Given the description of an element on the screen output the (x, y) to click on. 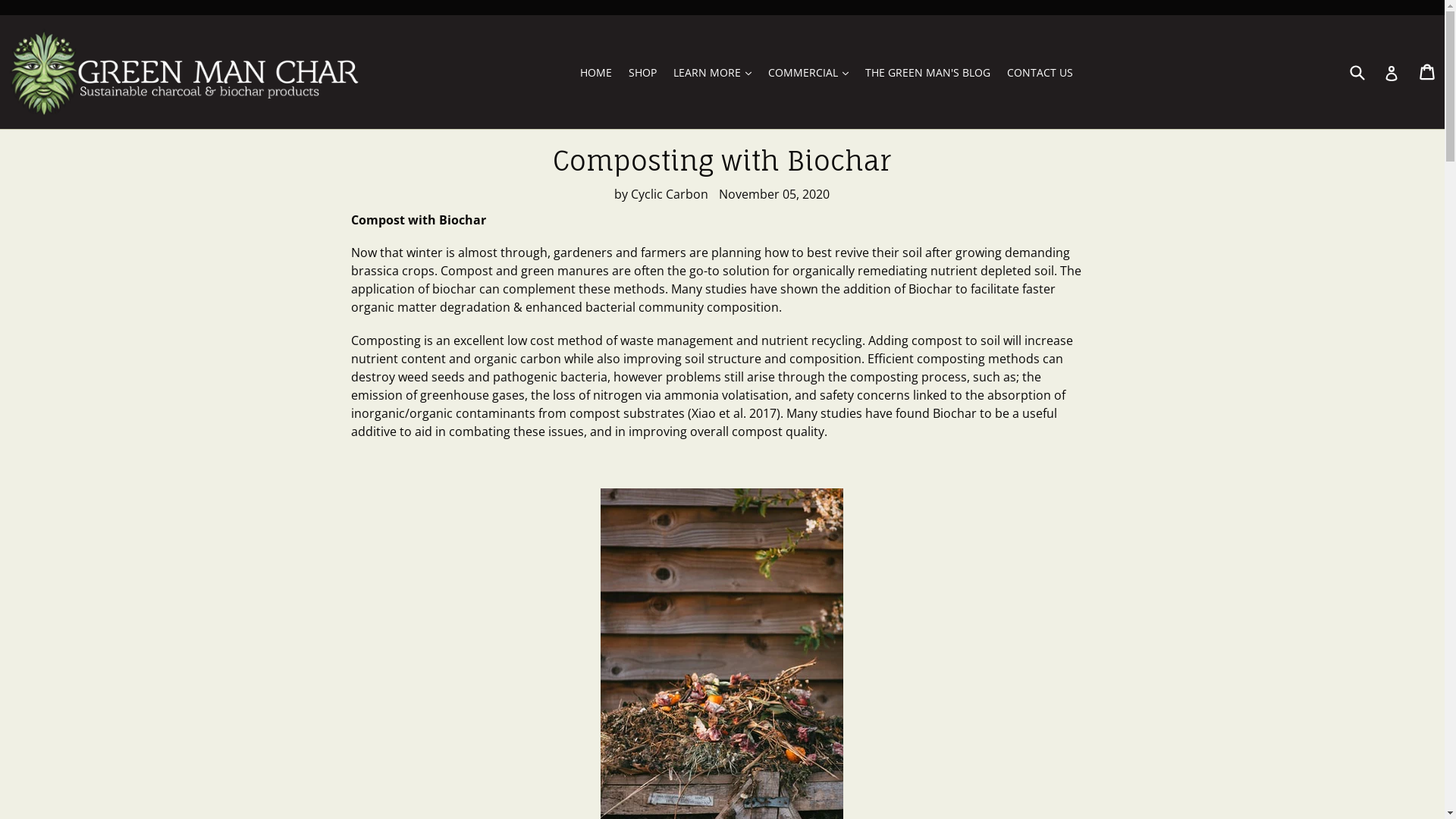
HOME Element type: text (595, 72)
Cart
Cart Element type: text (1428, 71)
CONTACT US Element type: text (1039, 72)
THE GREEN MAN'S BLOG Element type: text (927, 72)
Log in Element type: text (1391, 71)
SHOP Element type: text (642, 72)
Submit Element type: text (1356, 71)
